Given the description of an element on the screen output the (x, y) to click on. 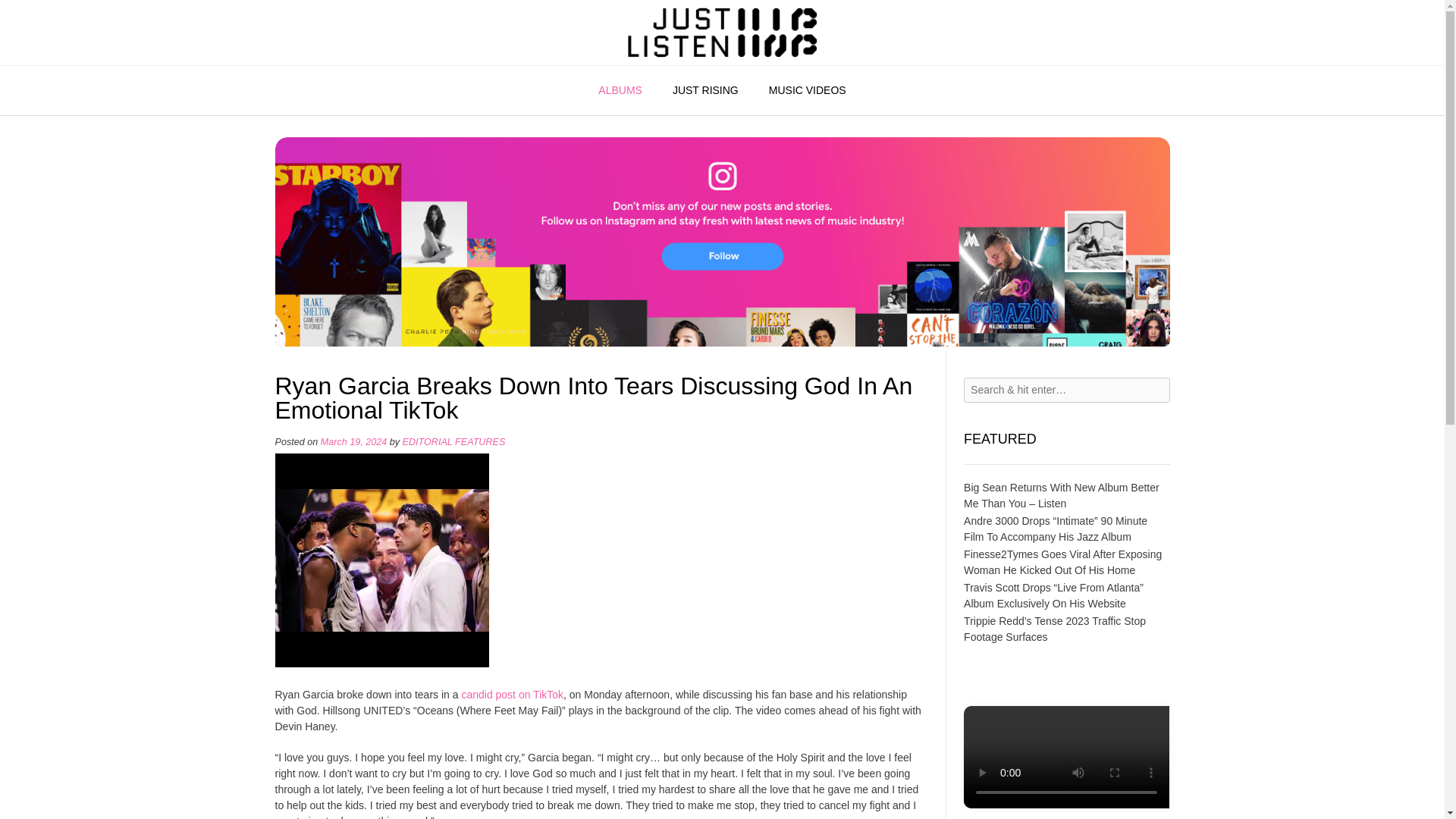
ALBUMS (620, 91)
Your browser does not support the video tag. (1066, 804)
EDITORIAL FEATURES (454, 441)
Just Listen Hip Hop (721, 32)
candid post on TikTok (512, 694)
Instagram (722, 342)
JUST RISING (706, 91)
MUSIC VIDEOS (807, 91)
